Given the description of an element on the screen output the (x, y) to click on. 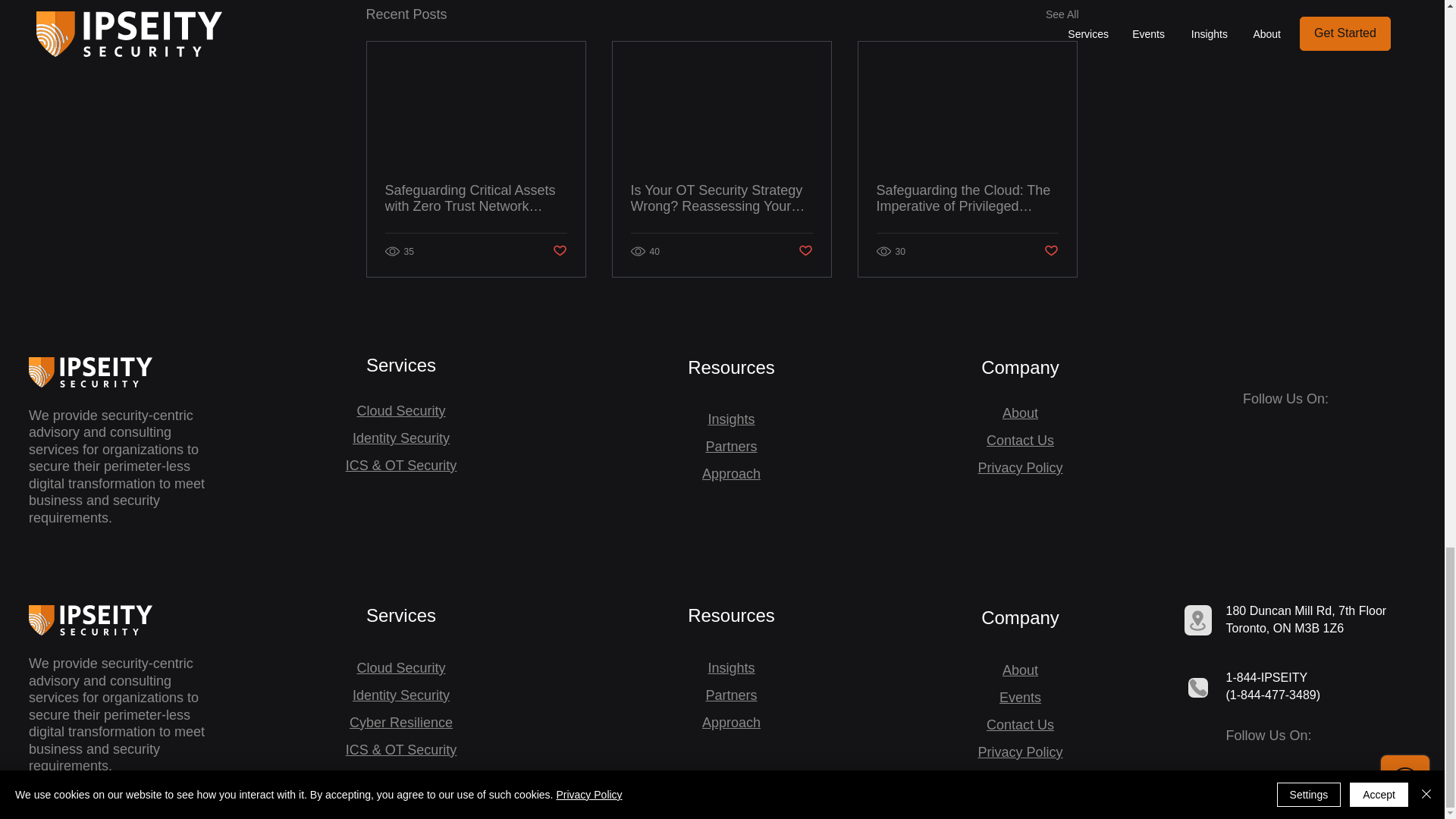
Partners (730, 446)
Cloud Security (400, 410)
Approach (730, 473)
Insights (730, 418)
Post not marked as liked (1050, 251)
Identity Security (400, 437)
See All (1061, 14)
Resources (730, 367)
Company (1020, 367)
Post not marked as liked (804, 251)
Post not marked as liked (558, 251)
Services (400, 364)
